Given the description of an element on the screen output the (x, y) to click on. 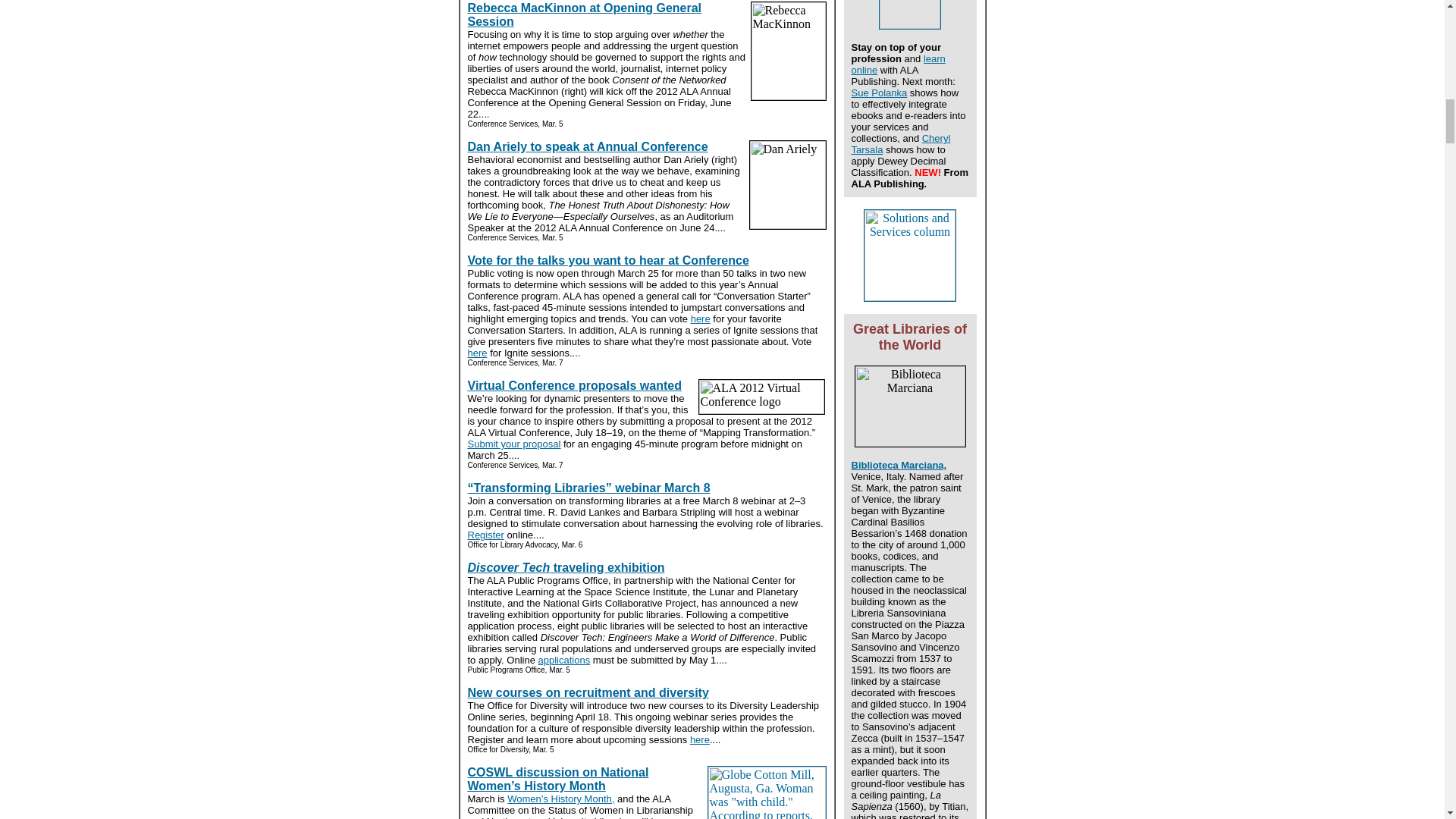
ALA 2012 Virtual Conference logo (760, 396)
